Given the description of an element on the screen output the (x, y) to click on. 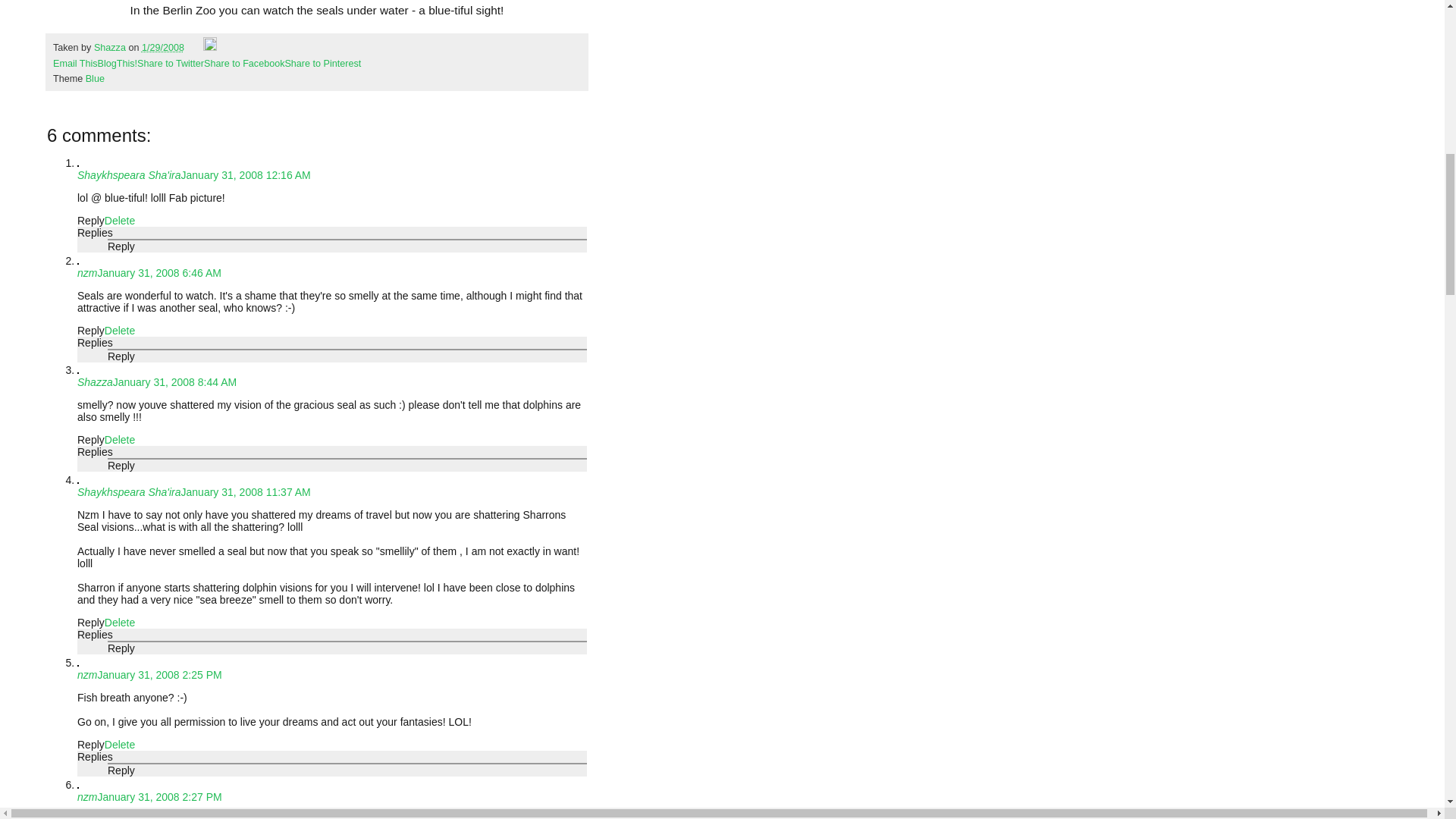
January 31, 2008 12:16 AM (245, 174)
Reply (90, 220)
Share to Facebook (243, 62)
January 31, 2008 8:44 AM (174, 381)
Shaykhspeara Sha'ira (128, 491)
Share to Facebook (243, 62)
Share to Pinterest (322, 62)
Replies (95, 342)
nzm (87, 272)
January 31, 2008 11:37 AM (245, 491)
Replies (95, 232)
Reply (90, 439)
permanent link (162, 47)
Email This (74, 62)
Delete (119, 439)
